Given the description of an element on the screen output the (x, y) to click on. 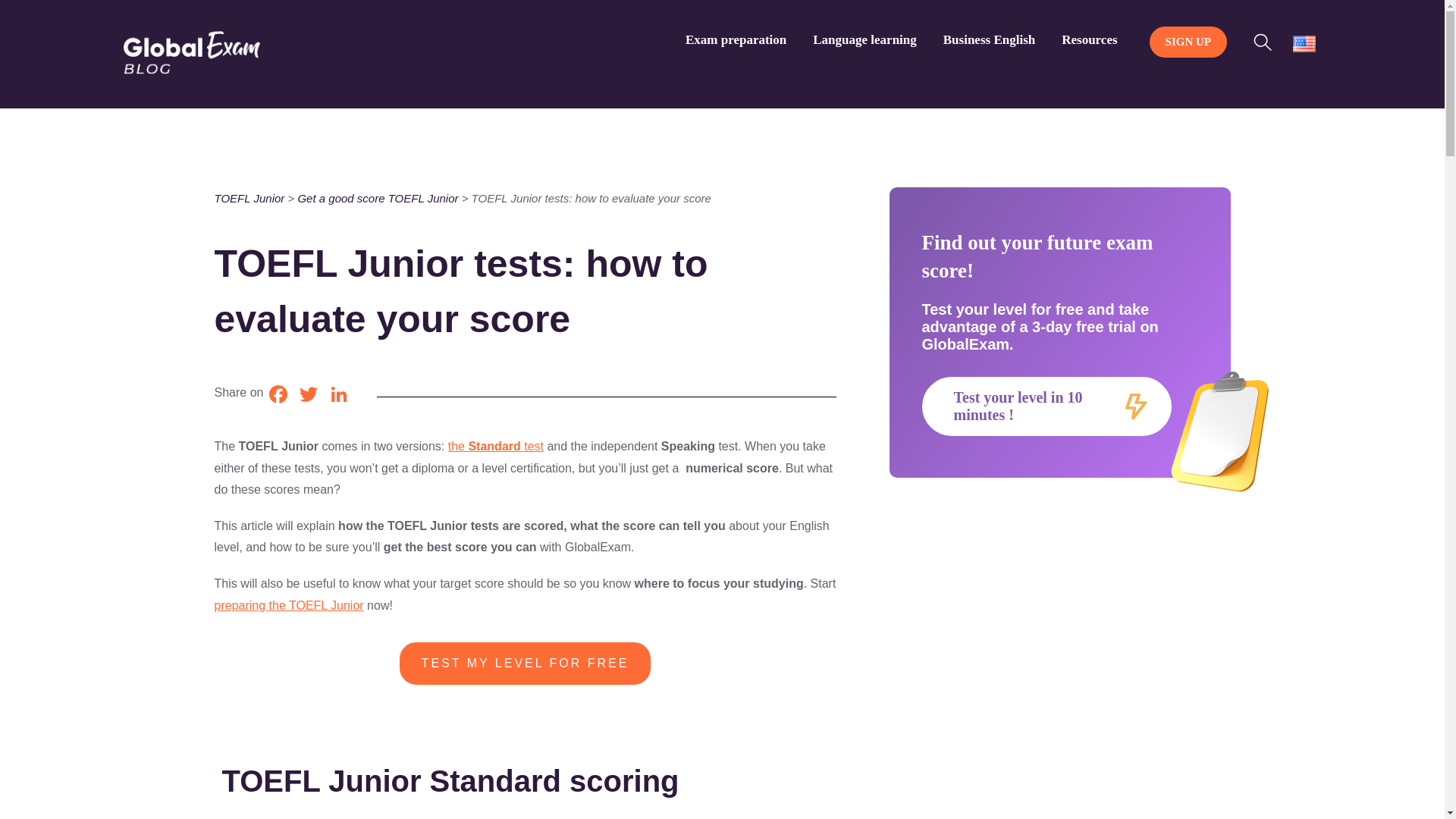
Facebook (278, 398)
LinkedIn (338, 398)
Twitter (308, 398)
Search (1265, 39)
TEST MY LEVEL FOR FREE (524, 674)
